Given the description of an element on the screen output the (x, y) to click on. 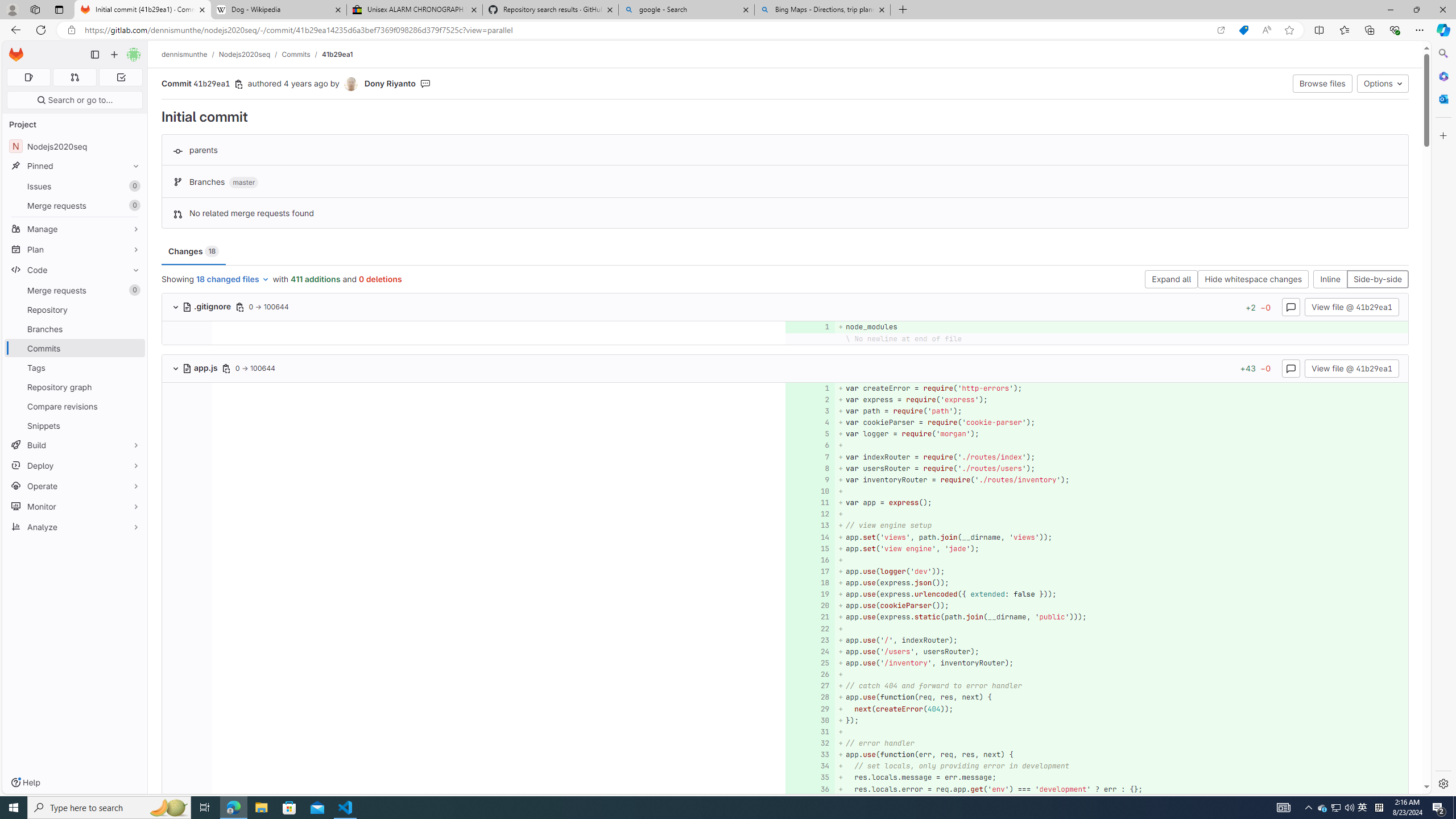
Add a comment to this line 3 (809, 410)
Branches (74, 328)
Merge requests 0 (74, 289)
Add a comment to this line 13 (809, 525)
Browse files (1322, 83)
app.js  (200, 367)
+ var app = express();  (1120, 503)
Manage (74, 228)
Tags (74, 367)
To-Do list 0 (120, 76)
Commits/ (301, 53)
Add a comment to this line 11 (809, 503)
Pin Compare revisions (132, 406)
